Given the description of an element on the screen output the (x, y) to click on. 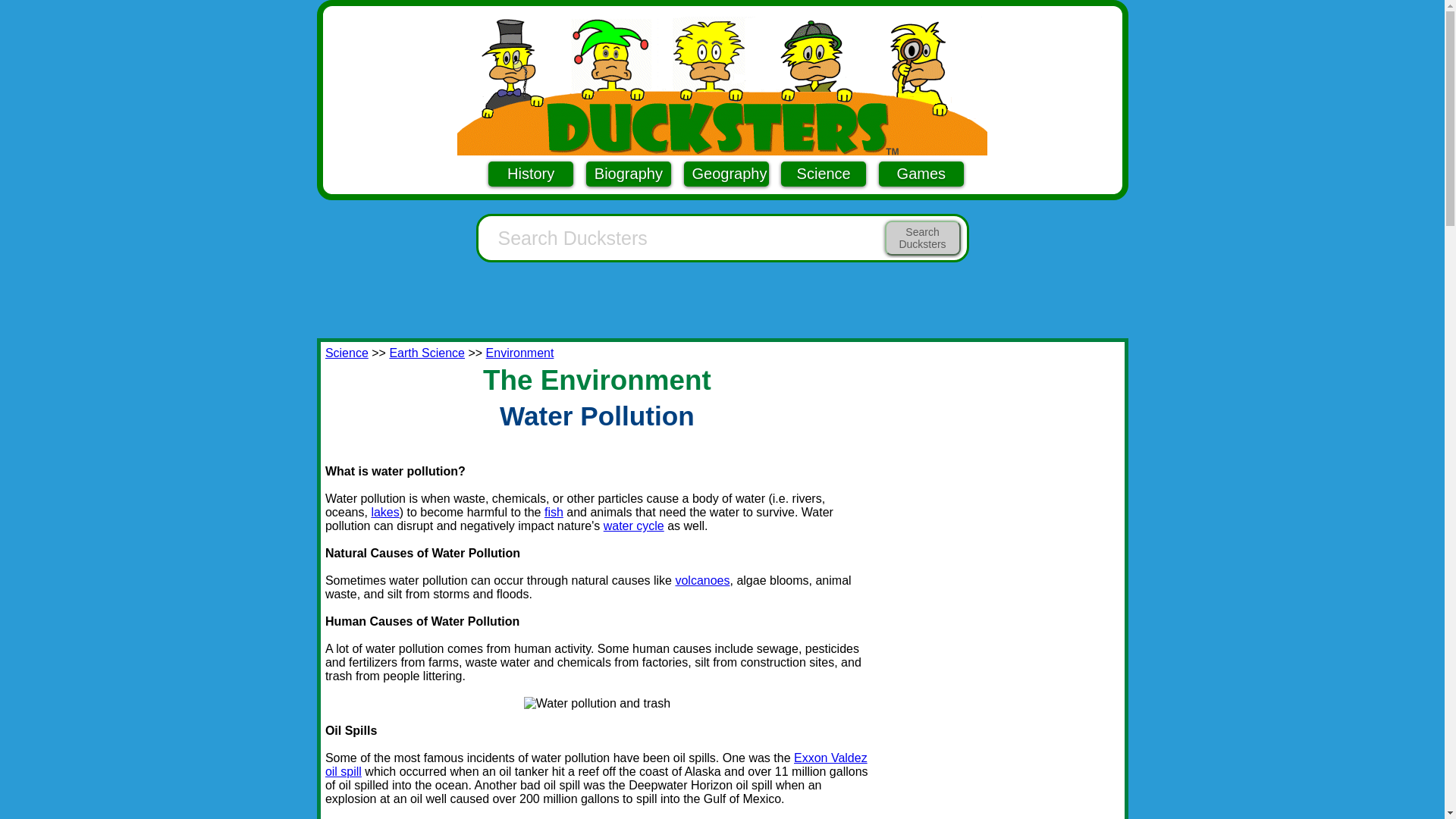
Environment (520, 352)
History (530, 173)
Earth Science (426, 352)
Games (921, 173)
fish (553, 512)
lakes (384, 512)
Science (823, 173)
Biography (628, 173)
Science (346, 352)
Search Ducksters (921, 237)
